Given the description of an element on the screen output the (x, y) to click on. 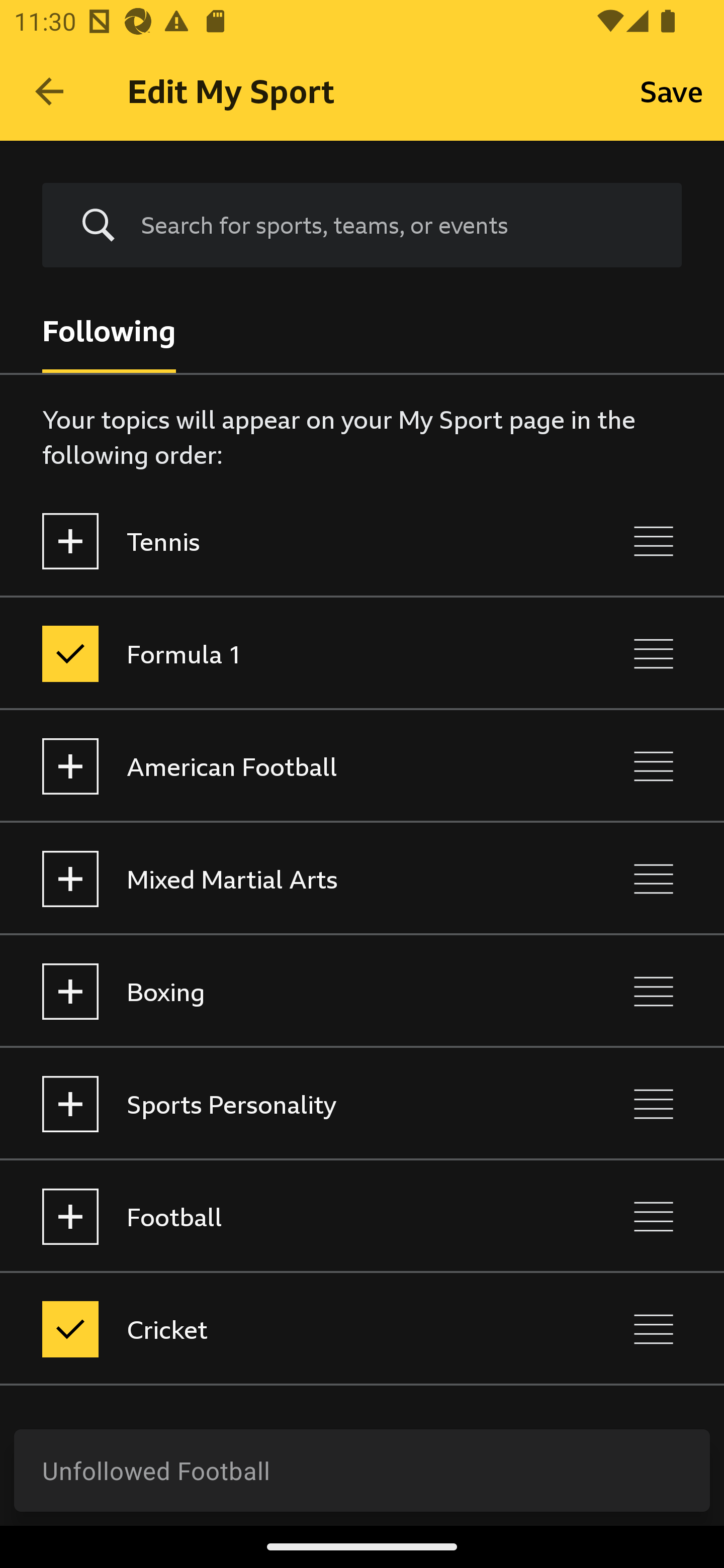
Navigate up (49, 91)
Save (671, 90)
Search for sports, teams, or events (361, 225)
Search for sports, teams, or events (396, 224)
Tennis (277, 540)
Reorder Tennis (653, 540)
Formula 1 (277, 653)
Reorder Formula 1 (653, 653)
American Football (277, 766)
Reorder American Football (653, 766)
Mixed Martial Arts (277, 878)
Reorder Mixed Martial Arts (653, 878)
Boxing (277, 990)
Reorder Boxing (653, 990)
Sports Personality (277, 1103)
Reorder Sports Personality (653, 1103)
Football (277, 1216)
Reorder Football (653, 1216)
Cricket (277, 1329)
Reorder Cricket (653, 1329)
